Given the description of an element on the screen output the (x, y) to click on. 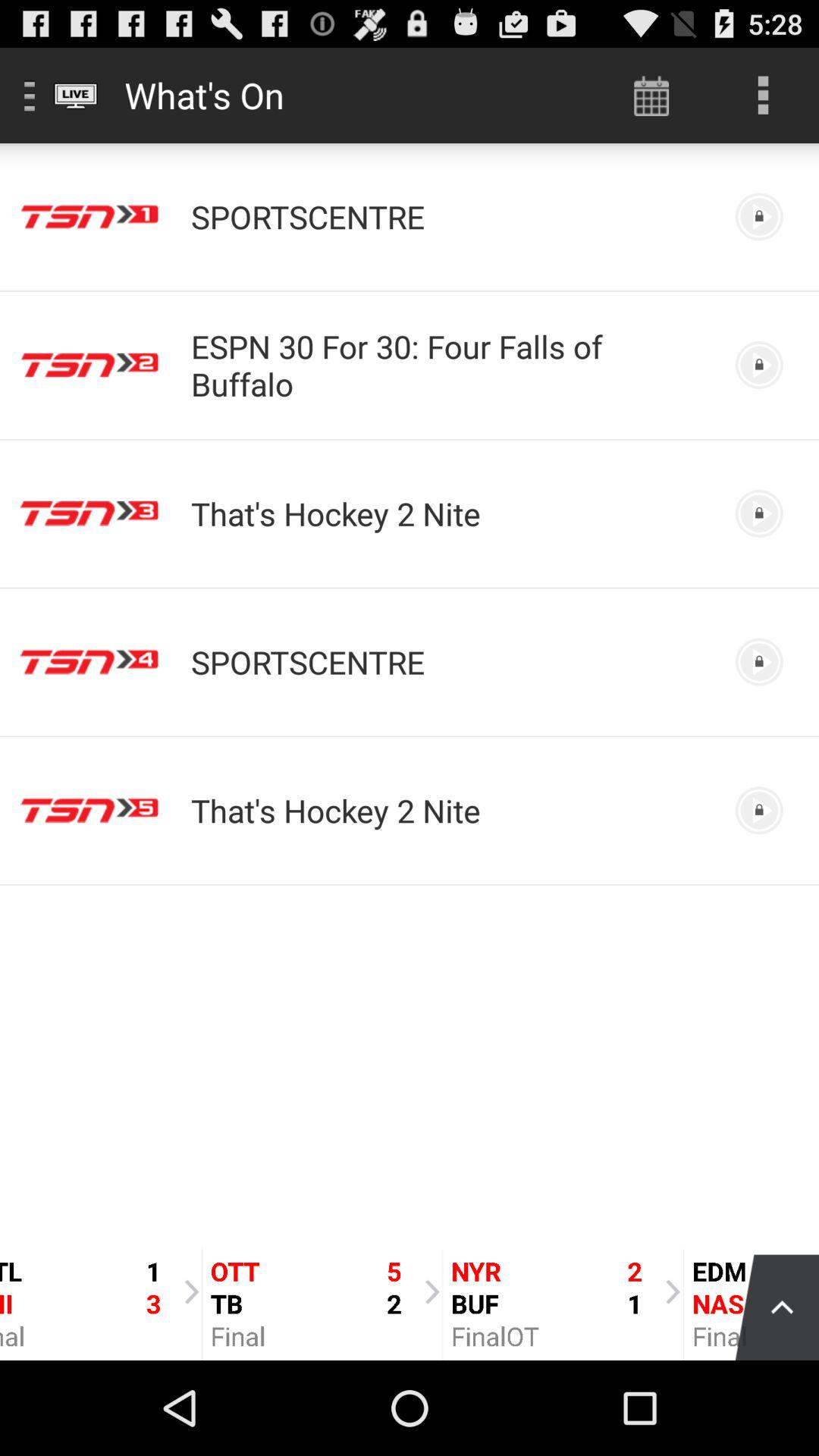
click the item above the that s hockey (450, 364)
